Given the description of an element on the screen output the (x, y) to click on. 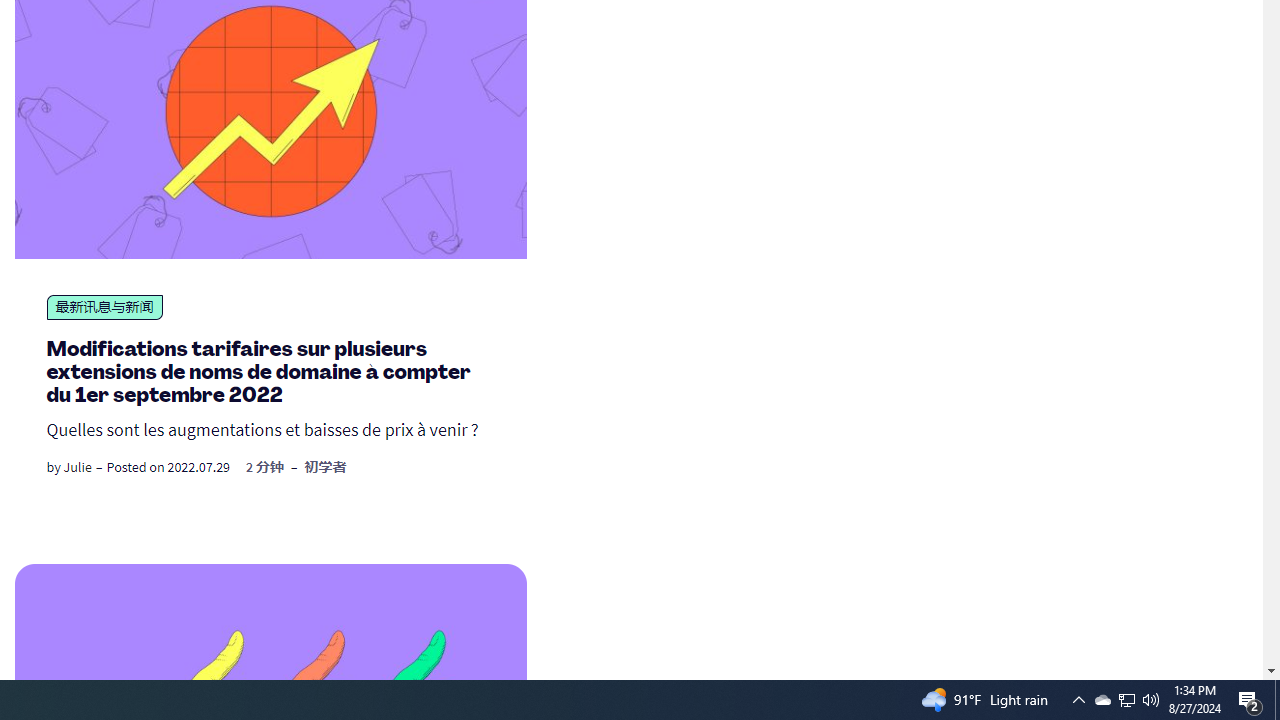
Julie (77, 466)
